Given the description of an element on the screen output the (x, y) to click on. 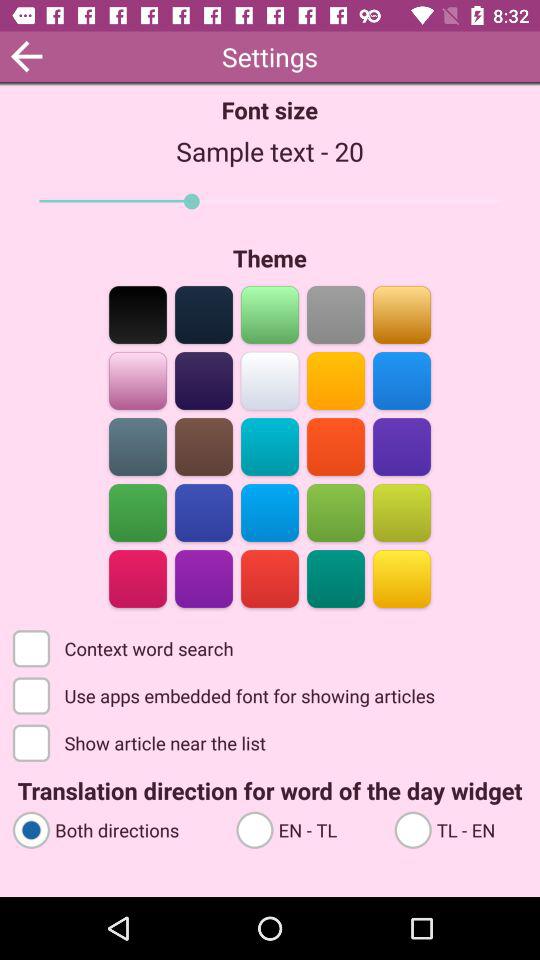
select forest green color (335, 511)
